Given the description of an element on the screen output the (x, y) to click on. 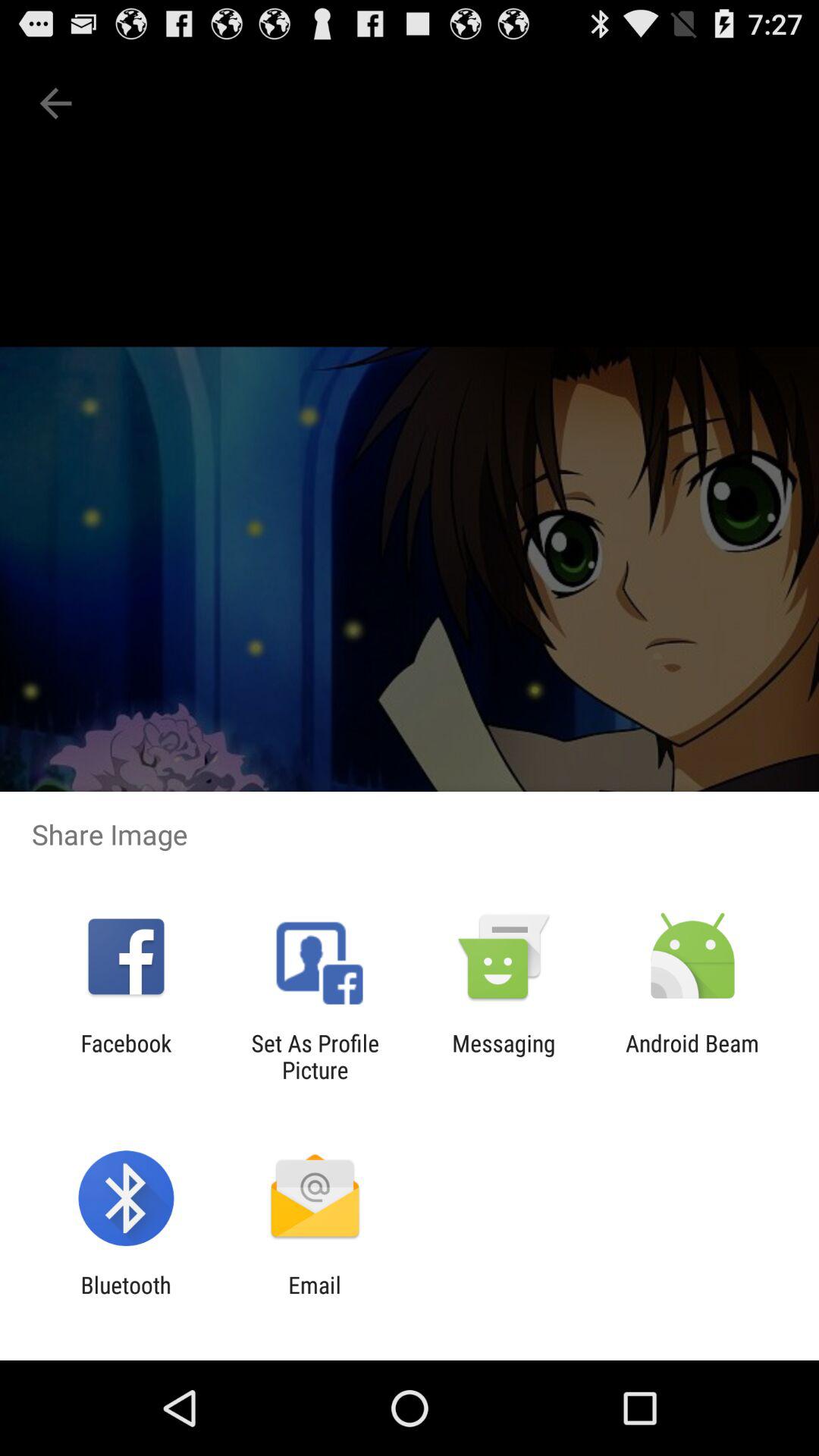
choose the icon next to the android beam app (503, 1056)
